Given the description of an element on the screen output the (x, y) to click on. 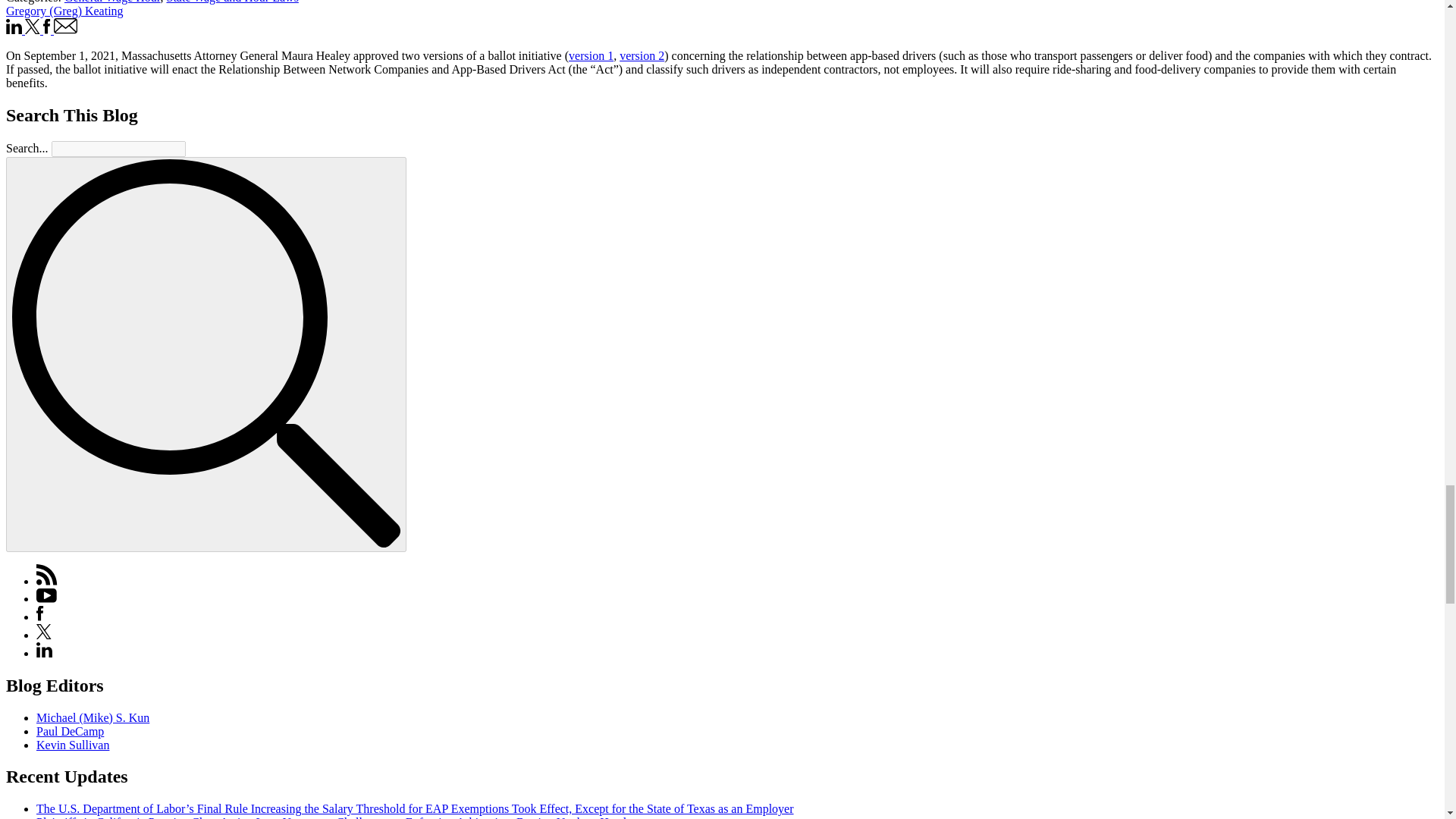
Linkedin (44, 653)
Youtube (46, 598)
Twitter (43, 634)
